Given the description of an element on the screen output the (x, y) to click on. 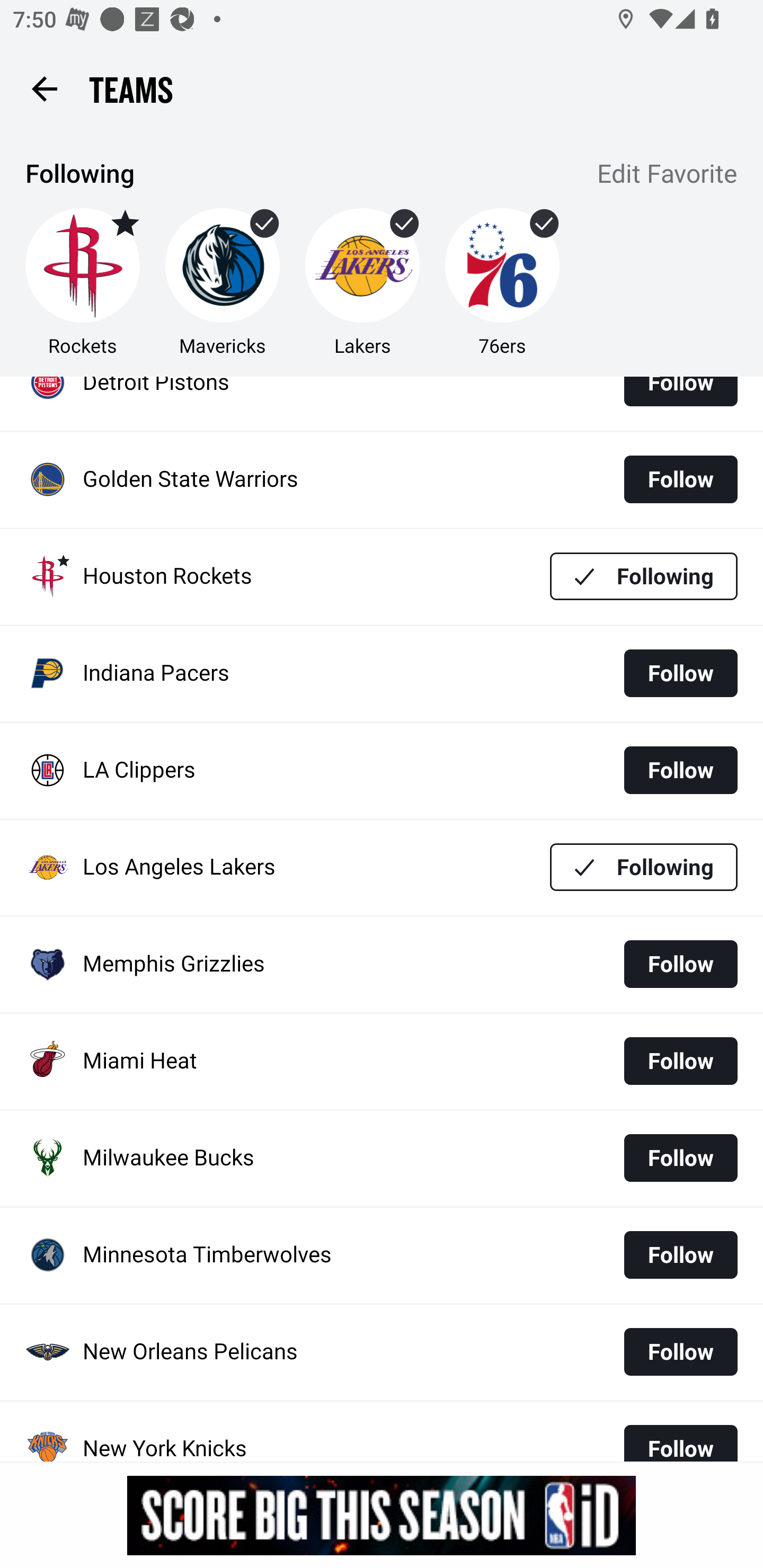
Back button (44, 88)
Edit Favorite (667, 175)
Detroit Pistons Follow (381, 403)
Follow (680, 398)
Golden State Warriors Follow (381, 479)
Follow (680, 478)
Houston Rockets Following (381, 576)
Following (643, 575)
Indiana Pacers Follow (381, 673)
Follow (680, 673)
LA Clippers Follow (381, 770)
Follow (680, 770)
Los Angeles Lakers Following (381, 867)
Following (643, 866)
Memphis Grizzlies Follow (381, 964)
Follow (680, 963)
Miami Heat Follow (381, 1061)
Follow (680, 1060)
Milwaukee Bucks Follow (381, 1157)
Follow (680, 1157)
Minnesota Timberwolves Follow (381, 1255)
Follow (680, 1254)
New Orleans Pelicans Follow (381, 1352)
Follow (680, 1351)
New York Knicks Follow (381, 1431)
Follow (680, 1436)
g5nqqygr7owph (381, 1515)
